Given the description of an element on the screen output the (x, y) to click on. 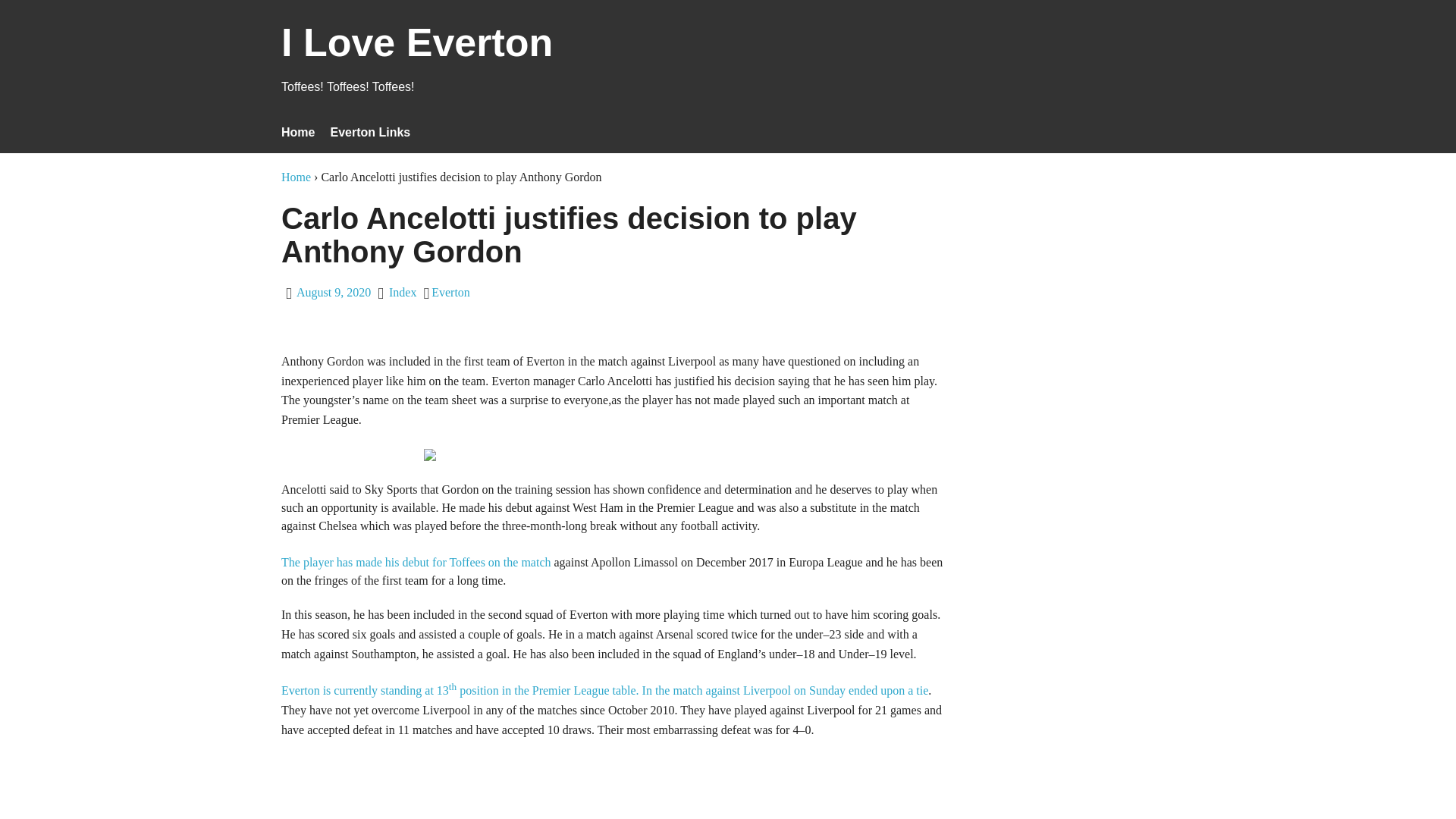
August 9, 2020 (334, 291)
I Love Everton (417, 51)
Home (297, 132)
Everton Links (370, 132)
I Love Everton (417, 51)
Home (296, 176)
Index (402, 291)
Everton (450, 291)
The player has made his debut for Toffees on the match (416, 562)
